Given the description of an element on the screen output the (x, y) to click on. 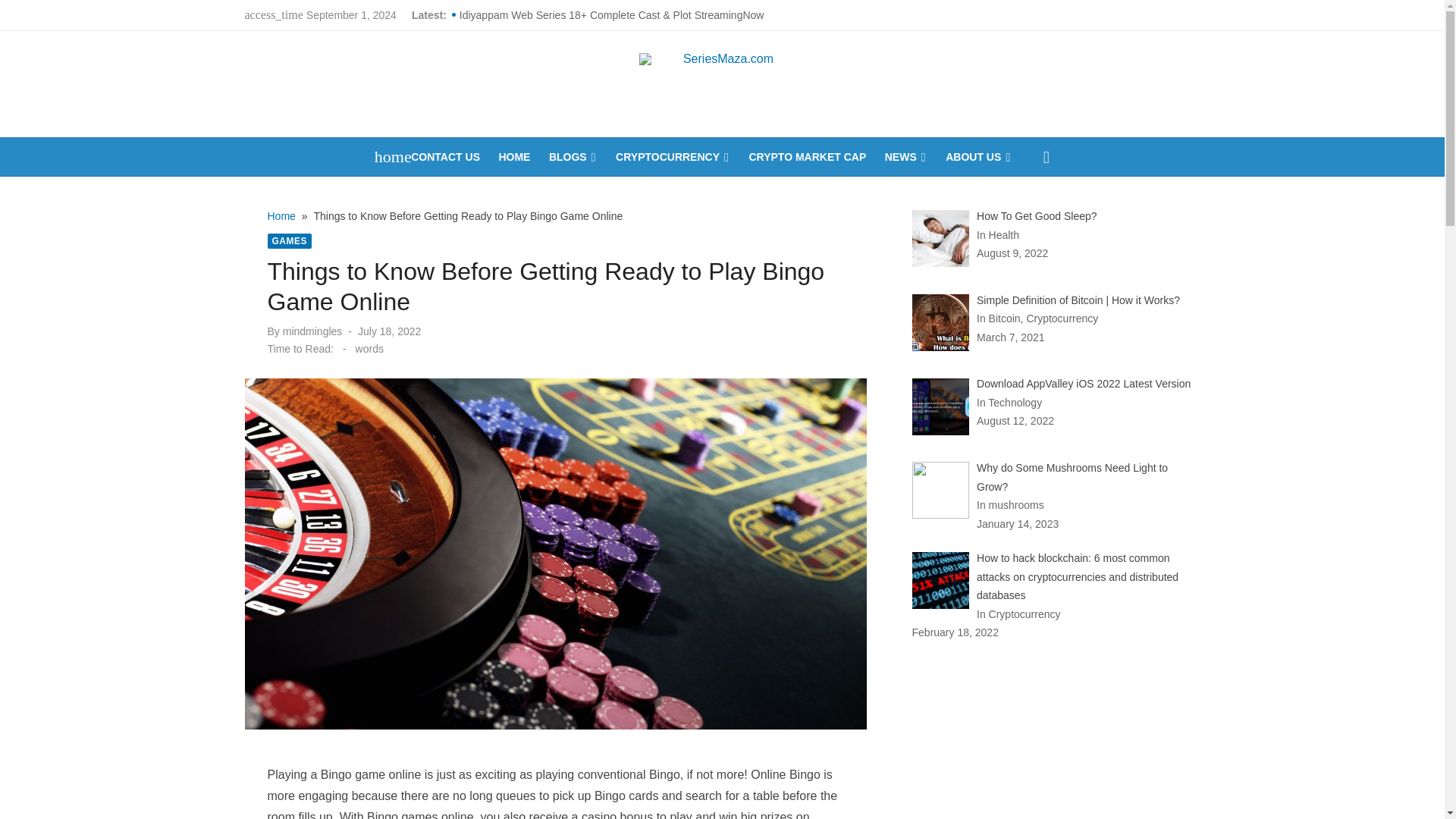
CRYPTOCURRENCY (672, 157)
BLOGS (572, 157)
ABOUT US (978, 157)
HOME (513, 157)
CONTACT US (445, 157)
CRYPTO MARKET CAP (807, 157)
home (385, 156)
NEWS (906, 157)
